Given the description of an element on the screen output the (x, y) to click on. 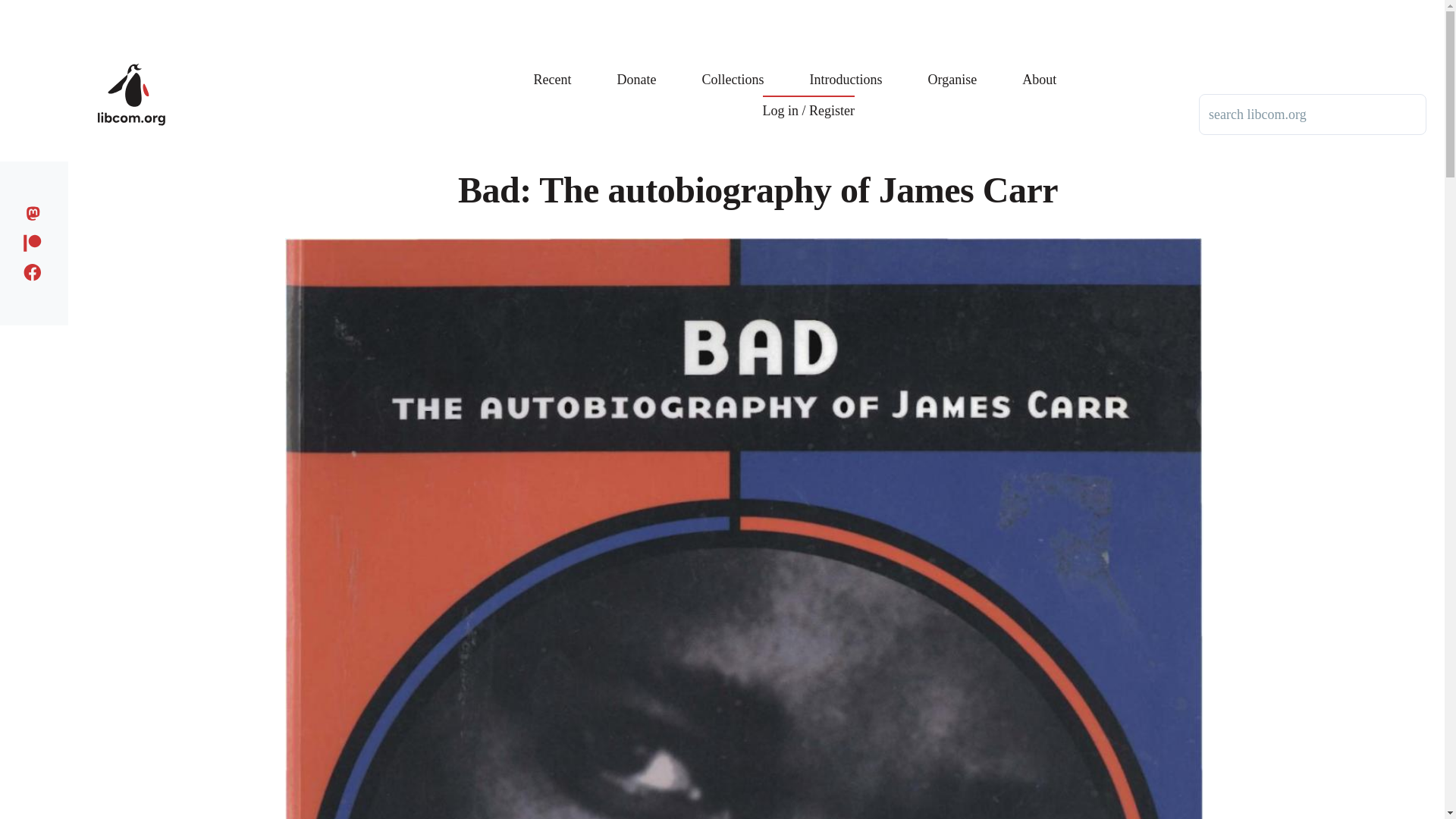
Introductions (845, 68)
Like us on facebook (36, 269)
Organise (952, 68)
Support us on patreon (36, 239)
Follow us on Mastodon (36, 210)
Collections (732, 68)
Skip to main content (595, 6)
